Given the description of an element on the screen output the (x, y) to click on. 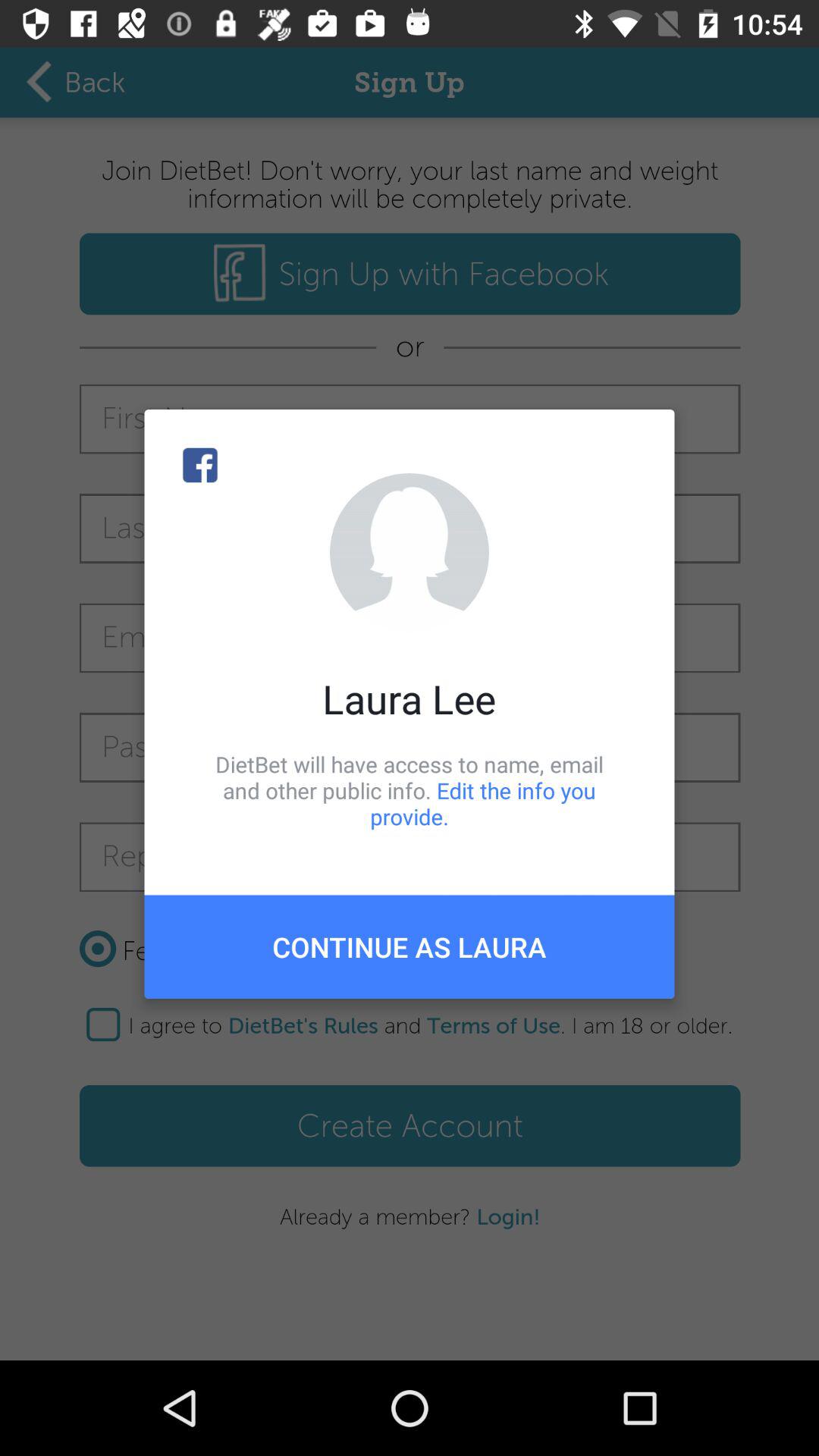
choose the item below laura lee (409, 790)
